Given the description of an element on the screen output the (x, y) to click on. 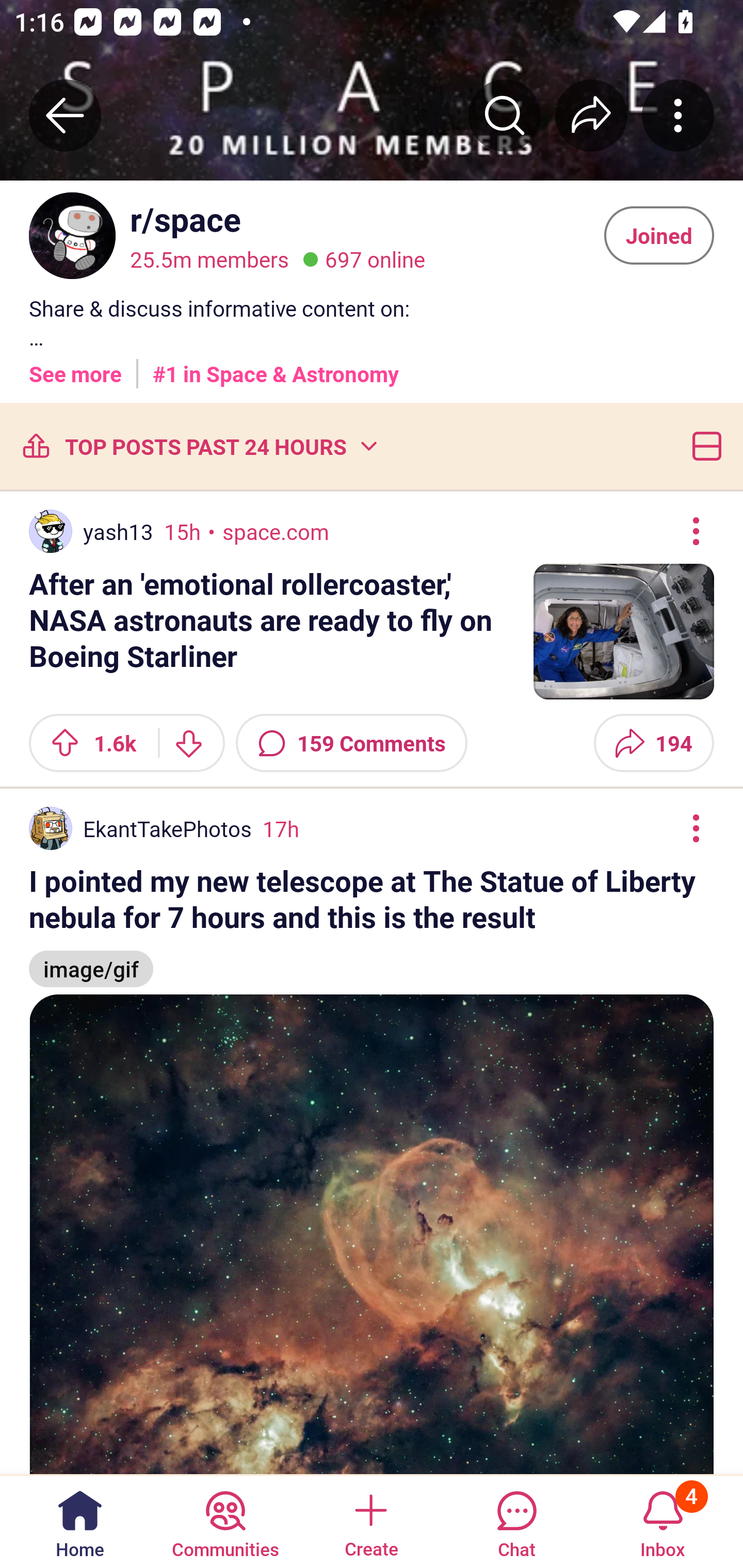
Back (64, 115)
Search r/﻿space (504, 115)
Share r/﻿space (591, 115)
More community actions (677, 115)
See more (74, 366)
#1 in Space & Astronomy (276, 366)
Top posts TOP POSTS PAST 24 HOURS (198, 445)
Card (703, 445)
image/gif (90, 959)
Home (80, 1520)
Communities (225, 1520)
Create a post Create (370, 1520)
Chat (516, 1520)
Inbox, has 4 notifications 4 Inbox (662, 1520)
